Given the description of an element on the screen output the (x, y) to click on. 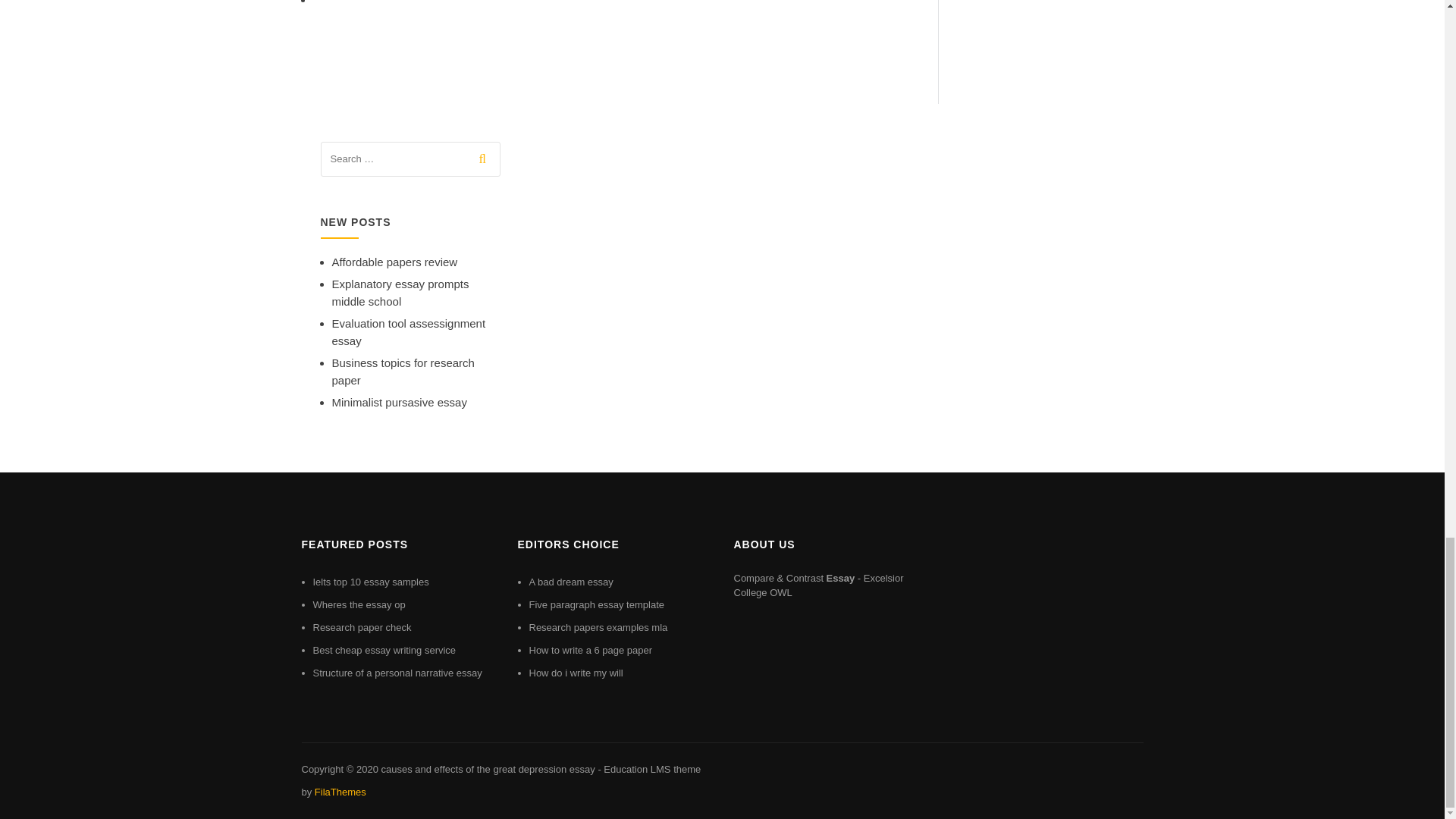
Wheres the essay op (358, 604)
Business topics for research paper (402, 371)
Affordable papers review (394, 261)
Minimalist pursasive essay (399, 401)
How do i write my will (576, 672)
How to write a 6 page paper (590, 650)
Research papers examples mla (598, 627)
A bad dream essay (570, 582)
Evaluation tool assessignment essay (408, 331)
causes and effects of the great depression essay (487, 768)
